Given the description of an element on the screen output the (x, y) to click on. 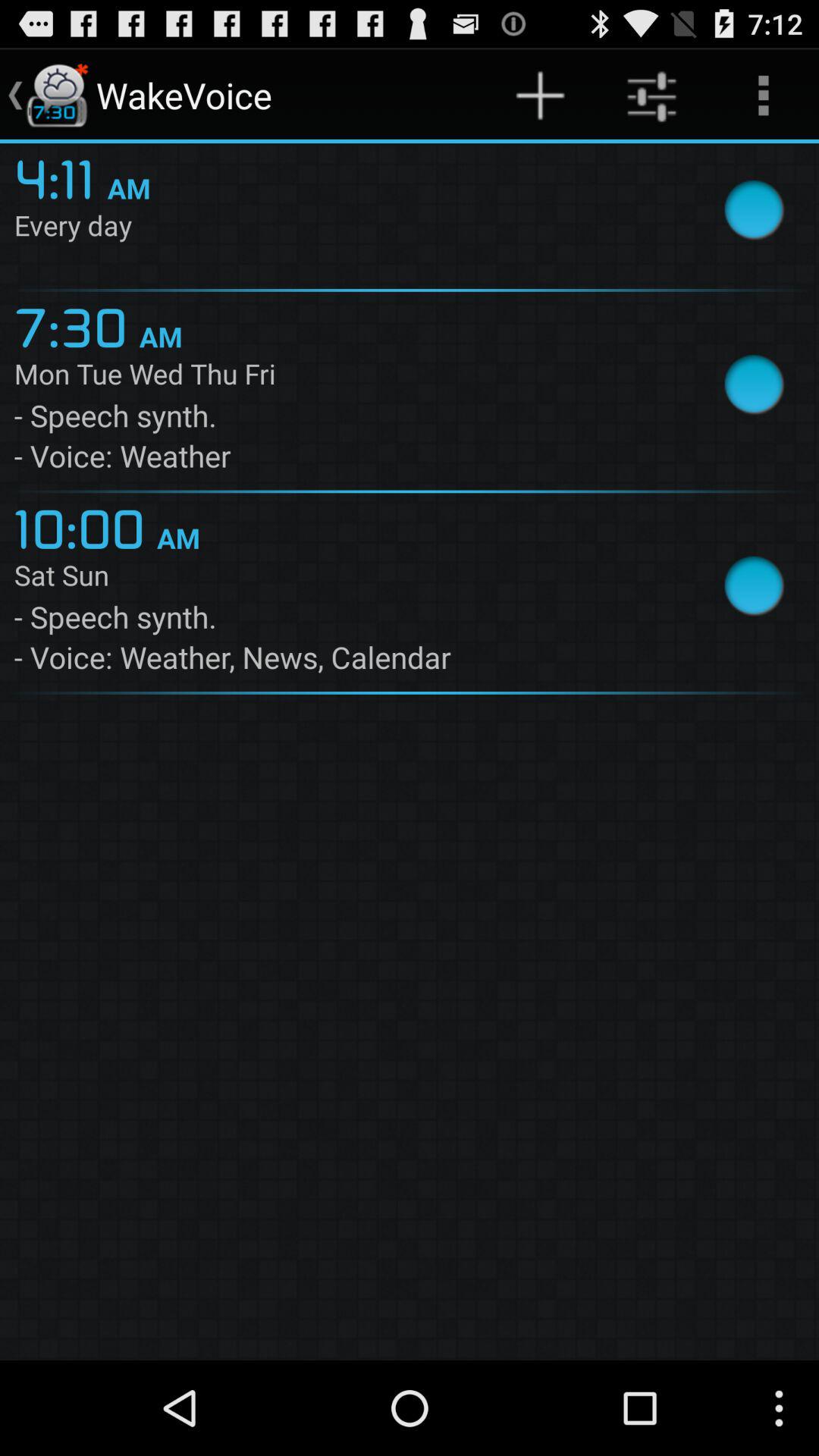
launch the app above the every day app (540, 95)
